Given the description of an element on the screen output the (x, y) to click on. 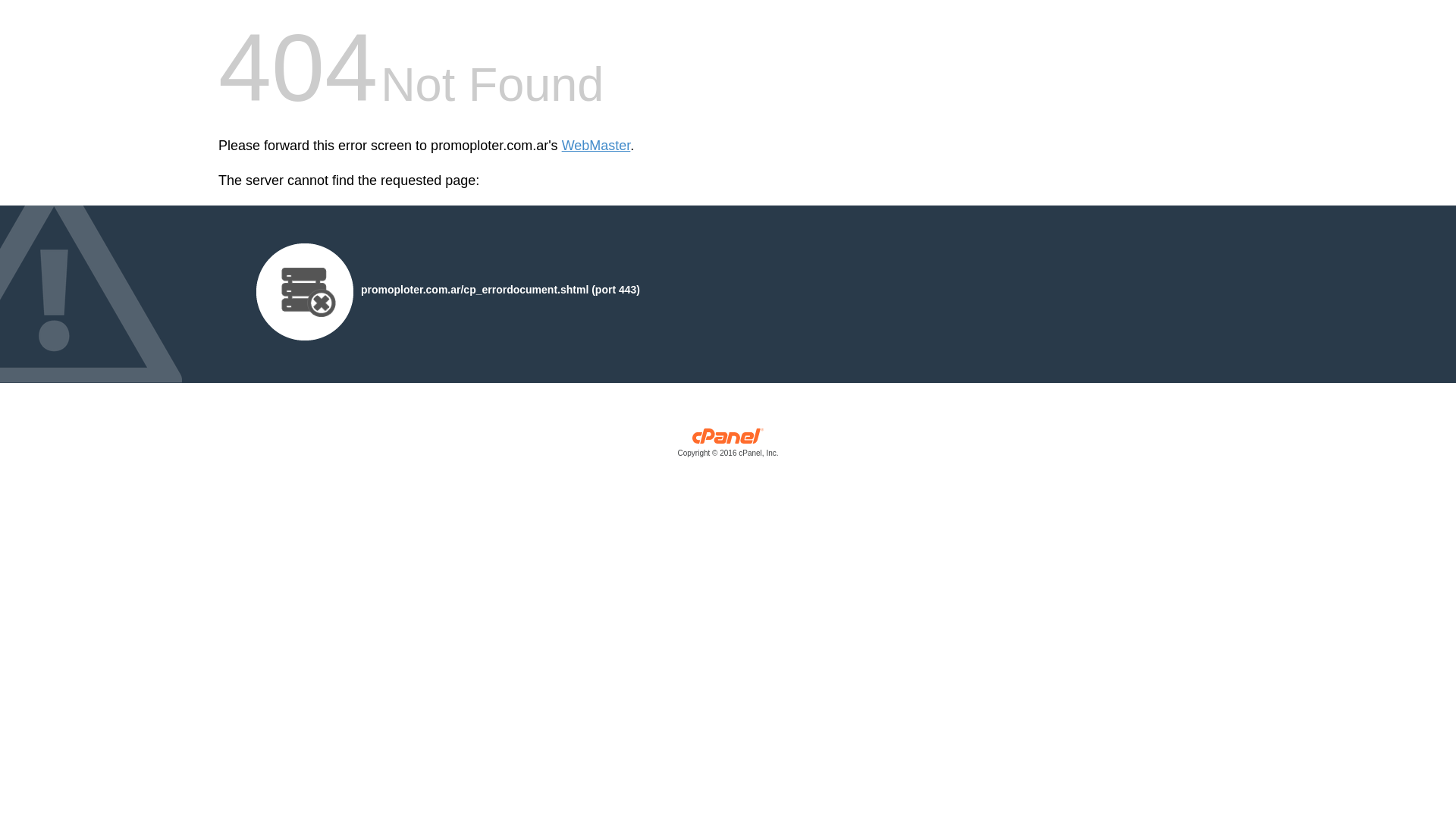
WebMaster (596, 145)
cPanel, Inc. (727, 446)
